Given the description of an element on the screen output the (x, y) to click on. 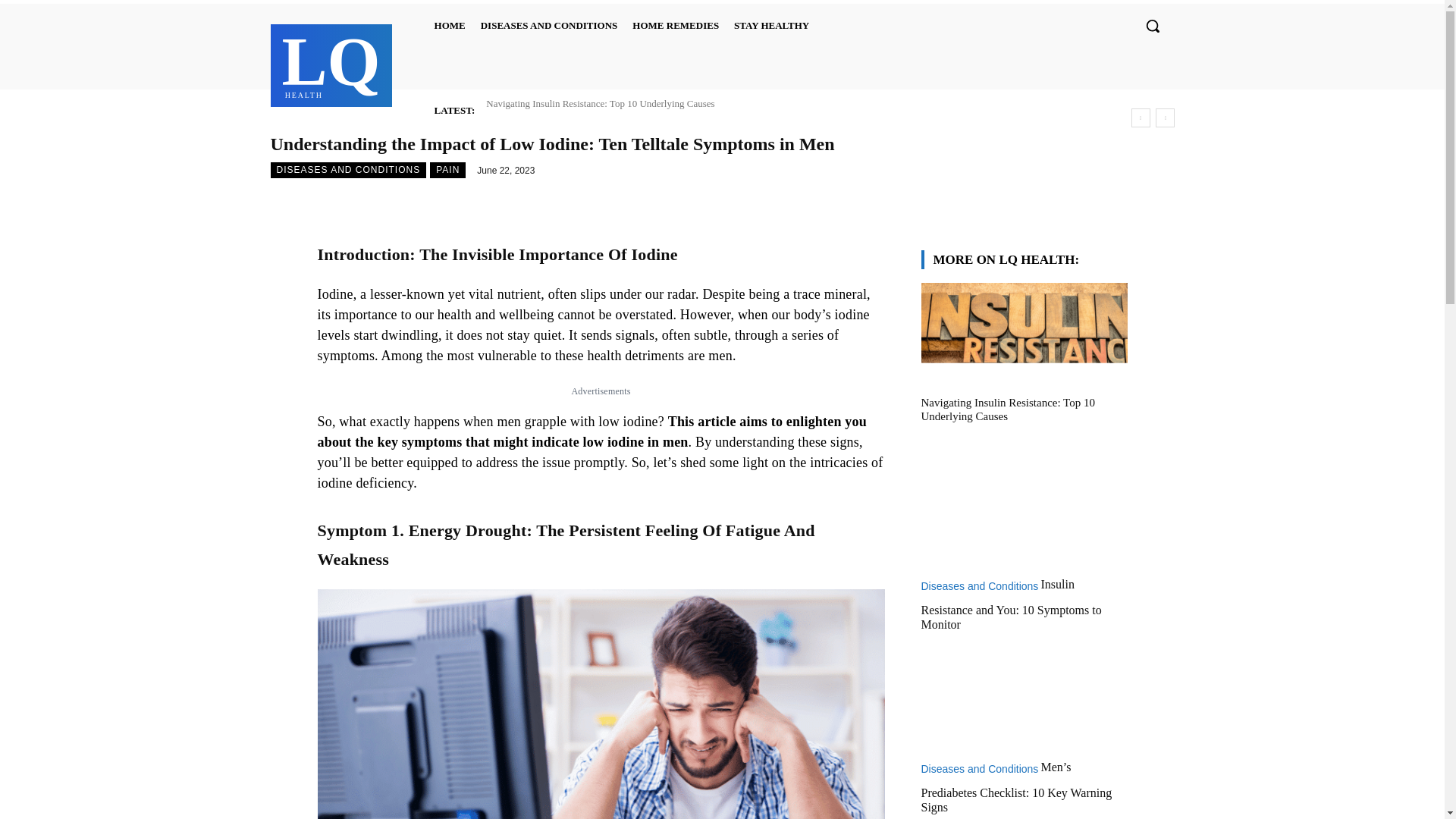
Navigating Insulin Resistance: Top 10 Underlying Causes (331, 63)
DISEASES AND CONDITIONS (600, 102)
HOME (549, 25)
Navigating Insulin Resistance: Top 10 Underlying Causes (449, 25)
HOME REMEDIES (600, 102)
STAY HEALTHY (675, 25)
DISEASES AND CONDITIONS (771, 25)
